Given the description of an element on the screen output the (x, y) to click on. 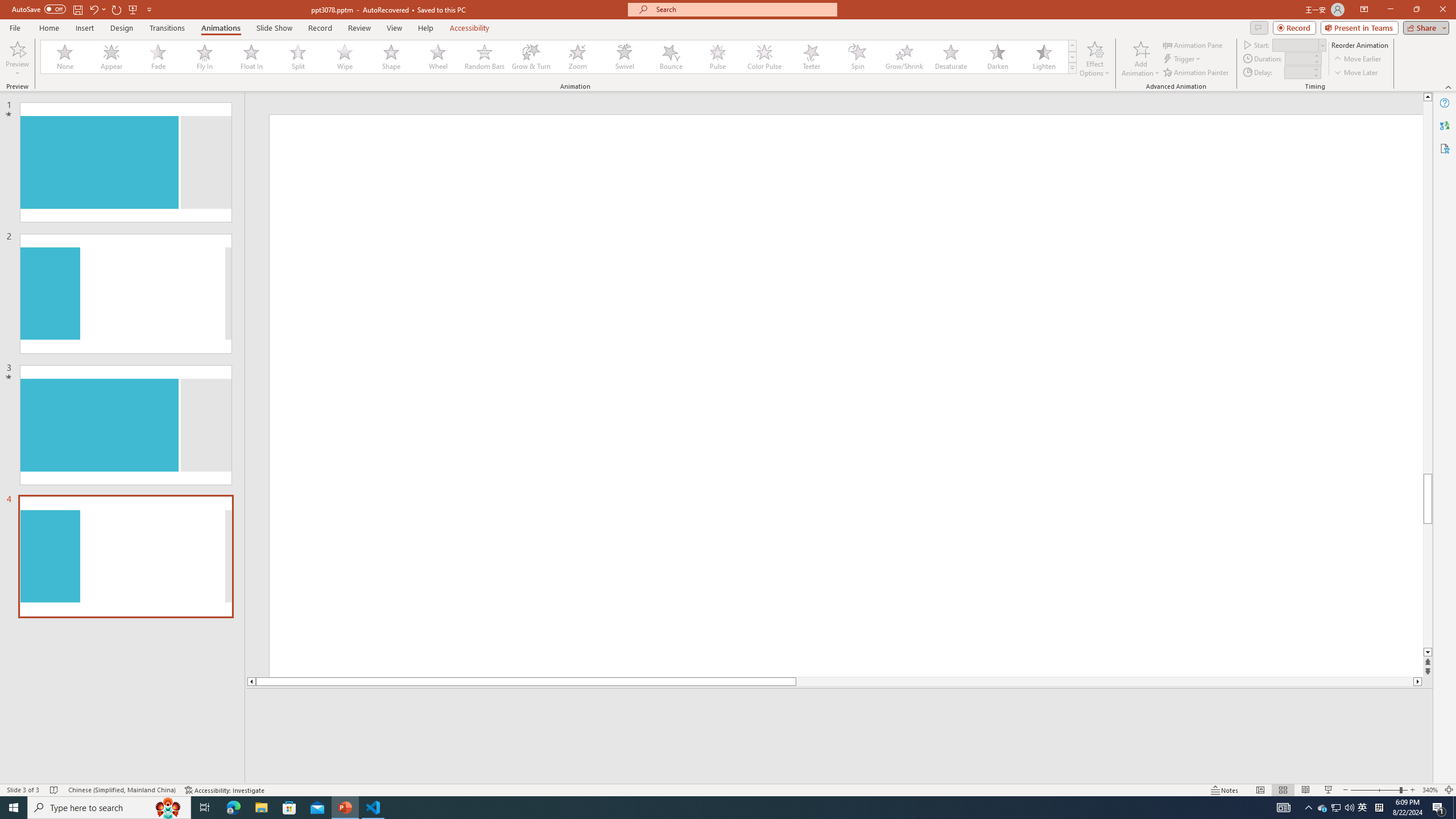
Float In (251, 56)
Color Pulse (764, 56)
Trigger (1182, 58)
